Given the description of an element on the screen output the (x, y) to click on. 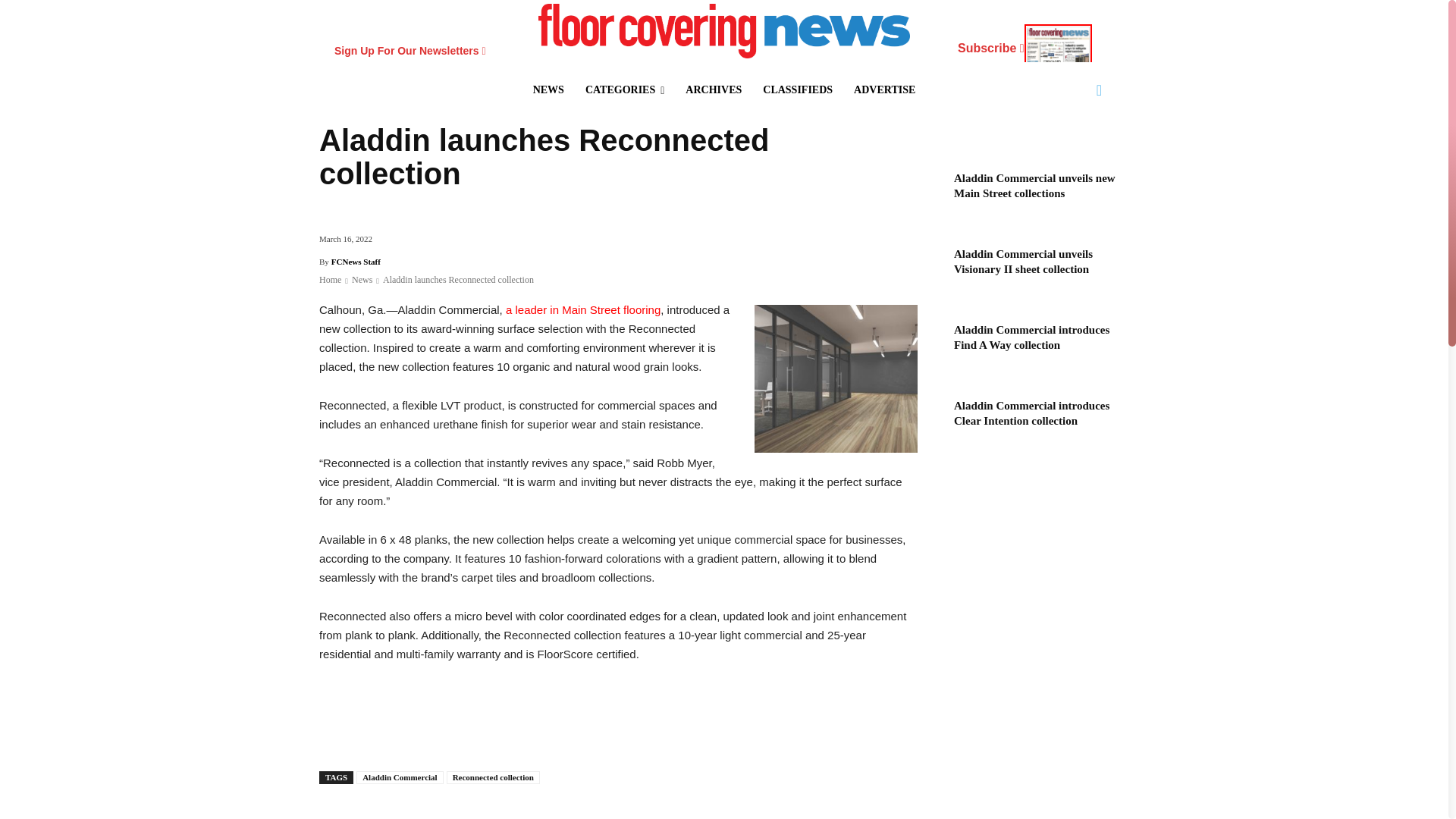
NEWS (548, 90)
View all posts in News (362, 279)
CATEGORIES (625, 90)
Subscribe (1025, 50)
Sign Up For Our Newsletters (410, 50)
